Given the description of an element on the screen output the (x, y) to click on. 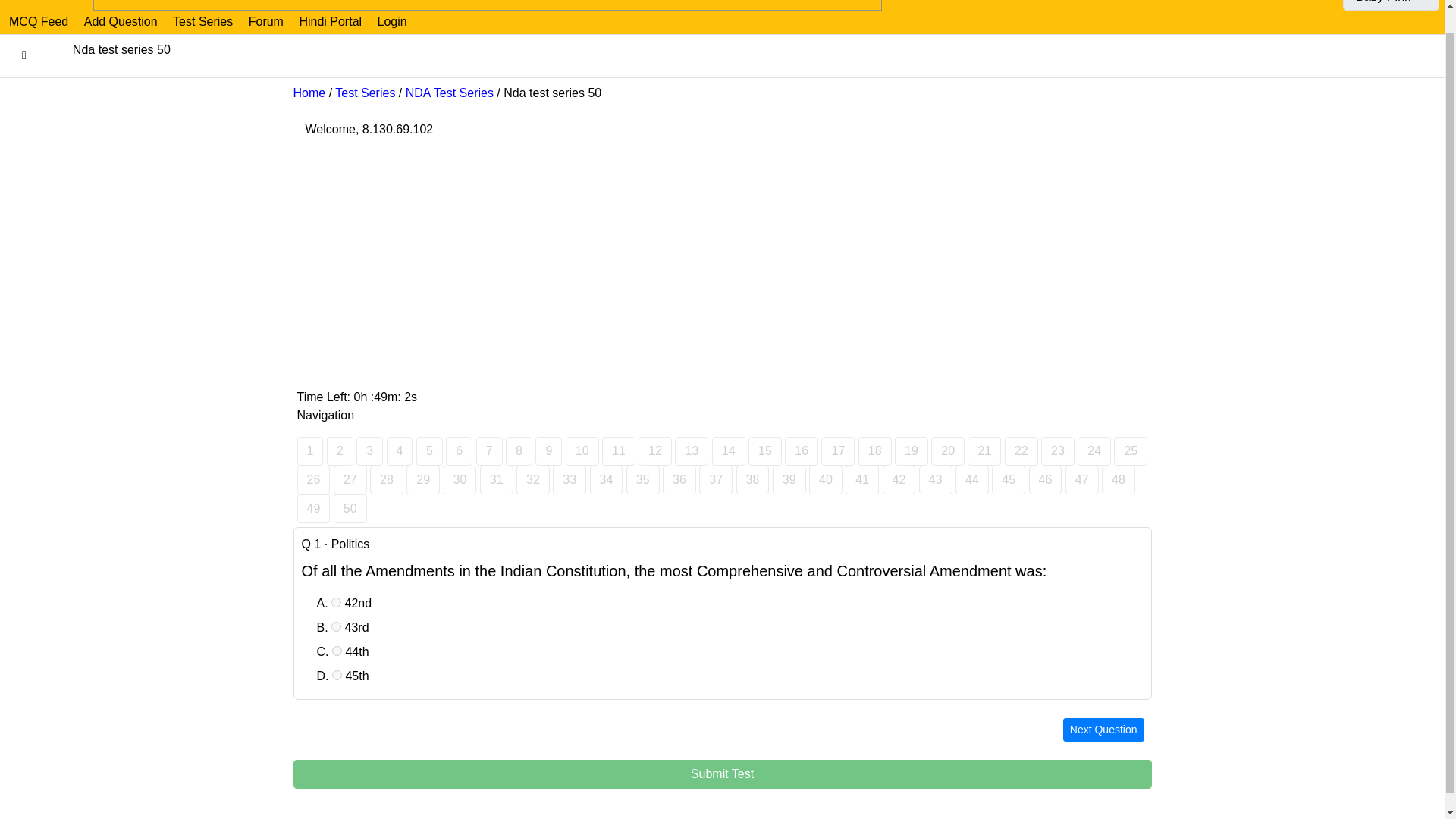
13 (691, 451)
Home (308, 92)
6 (458, 451)
Forum (266, 21)
A (335, 602)
14 (728, 451)
26 (313, 480)
28 (386, 480)
16 (801, 451)
18 (875, 451)
25 (1130, 451)
5 (429, 451)
8 (518, 451)
Add Question (120, 21)
Hindi Portal (330, 21)
